Given the description of an element on the screen output the (x, y) to click on. 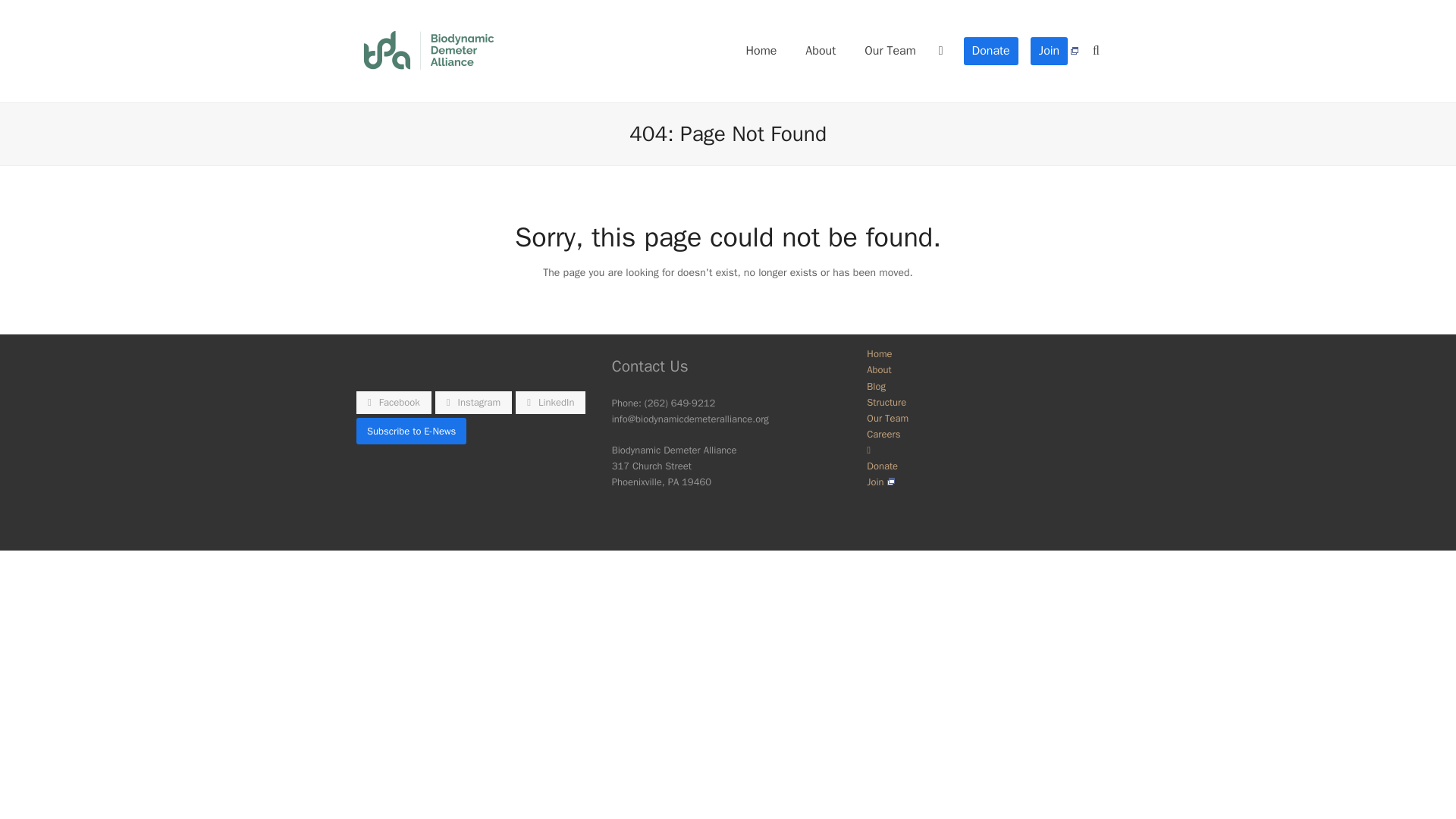
Subscribe to E-News (410, 430)
Careers (882, 433)
About (878, 369)
About (820, 50)
Facebook (393, 402)
Home (760, 50)
Join (1054, 50)
Donate (991, 50)
Our Team (889, 50)
Blog (875, 385)
